Given the description of an element on the screen output the (x, y) to click on. 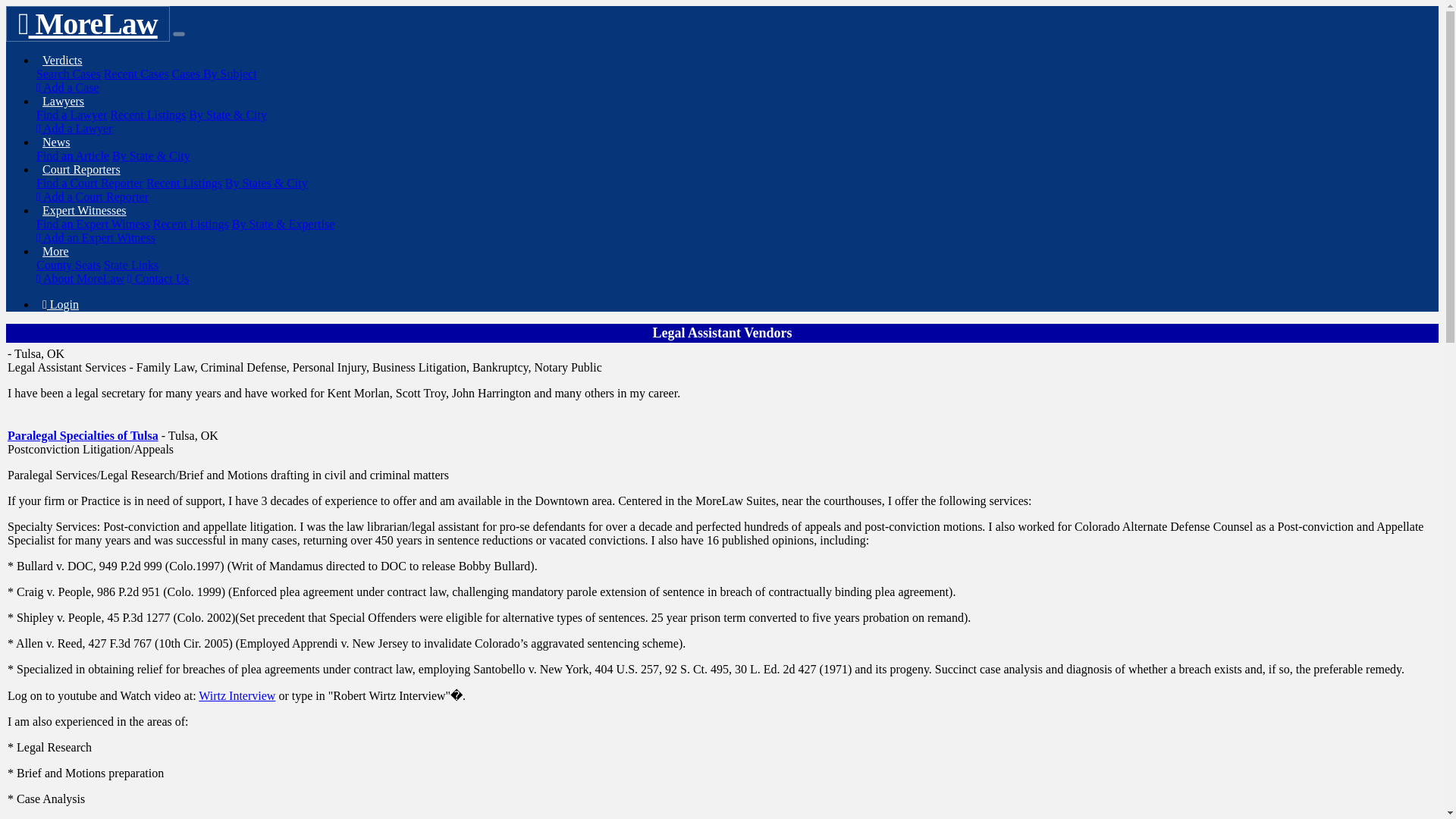
State Links (130, 264)
Recent Listings (190, 223)
Find a Court Reporter (89, 182)
Login (60, 304)
Lawyers (63, 101)
Court Reporters (81, 169)
Cases By Subject (214, 73)
Recent Listings (148, 114)
Find an Expert Witness (92, 223)
Paralegal Specialties of Tulsa (82, 435)
